Given the description of an element on the screen output the (x, y) to click on. 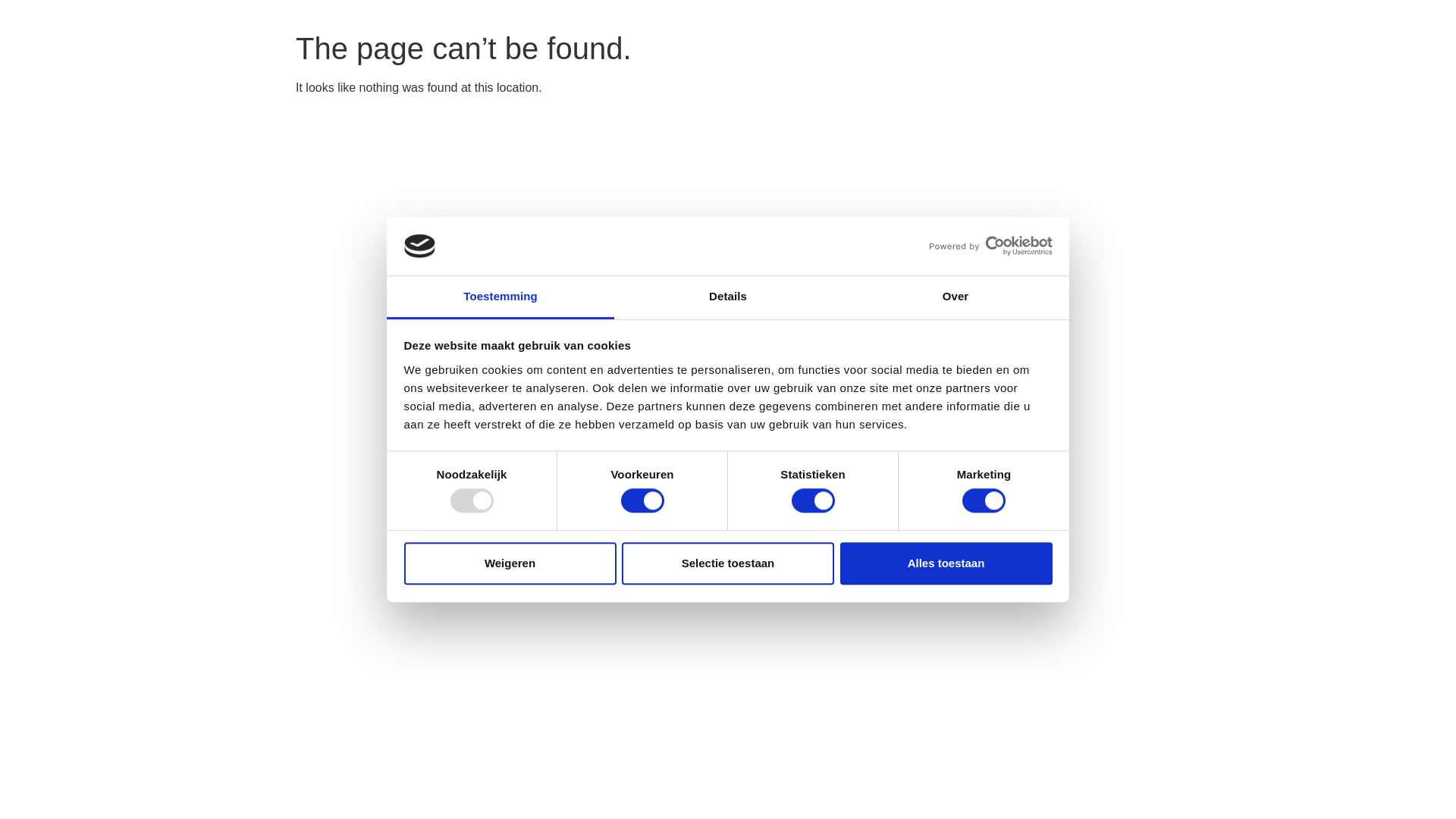
Selectie toestaan Element type: text (727, 563)
Toestemming Element type: text (500, 297)
Details Element type: text (727, 297)
Over Element type: text (955, 297)
Alles toestaan Element type: text (946, 563)
Weigeren Element type: text (509, 563)
